Given the description of an element on the screen output the (x, y) to click on. 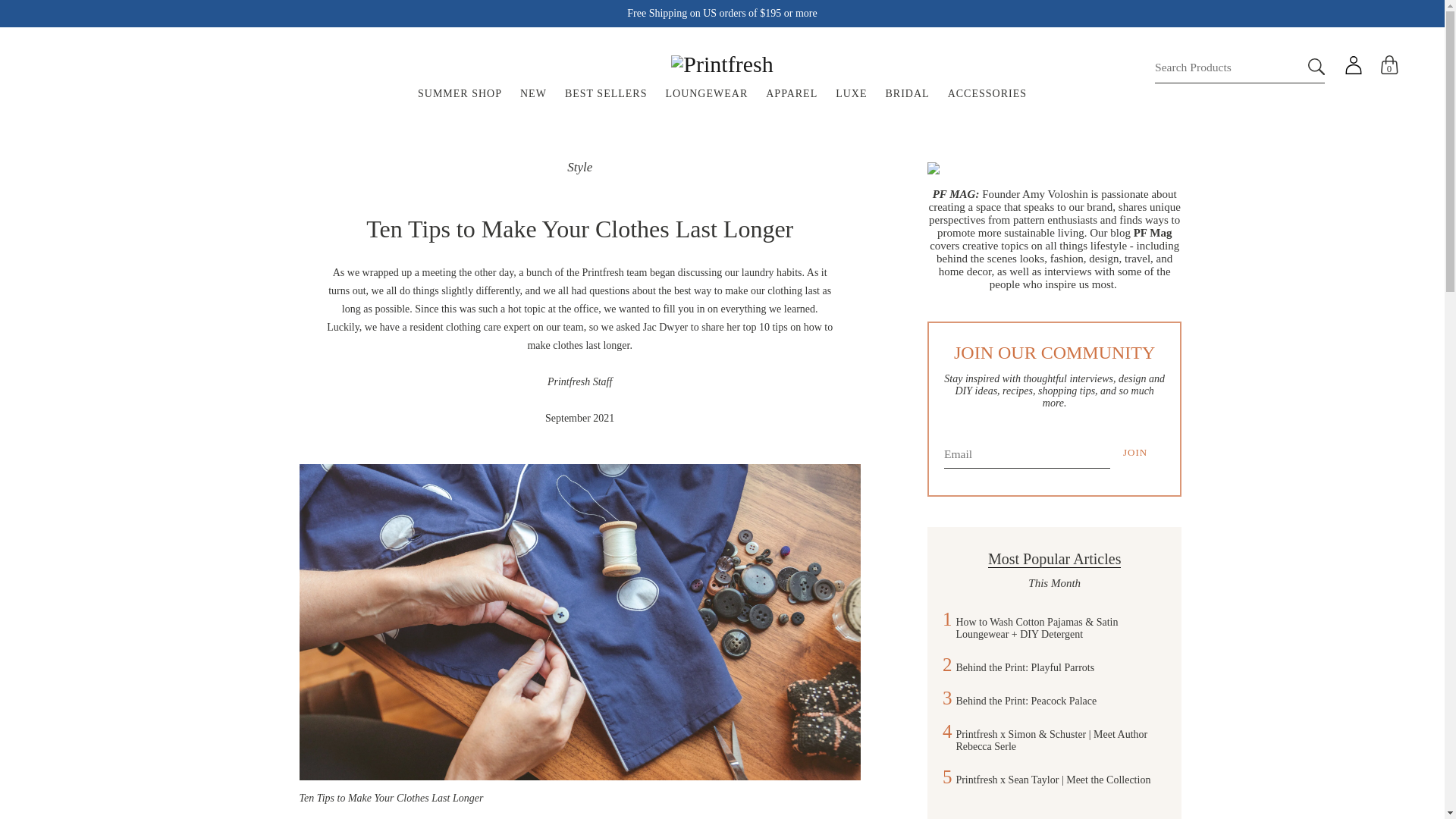
Email (1026, 452)
